Given the description of an element on the screen output the (x, y) to click on. 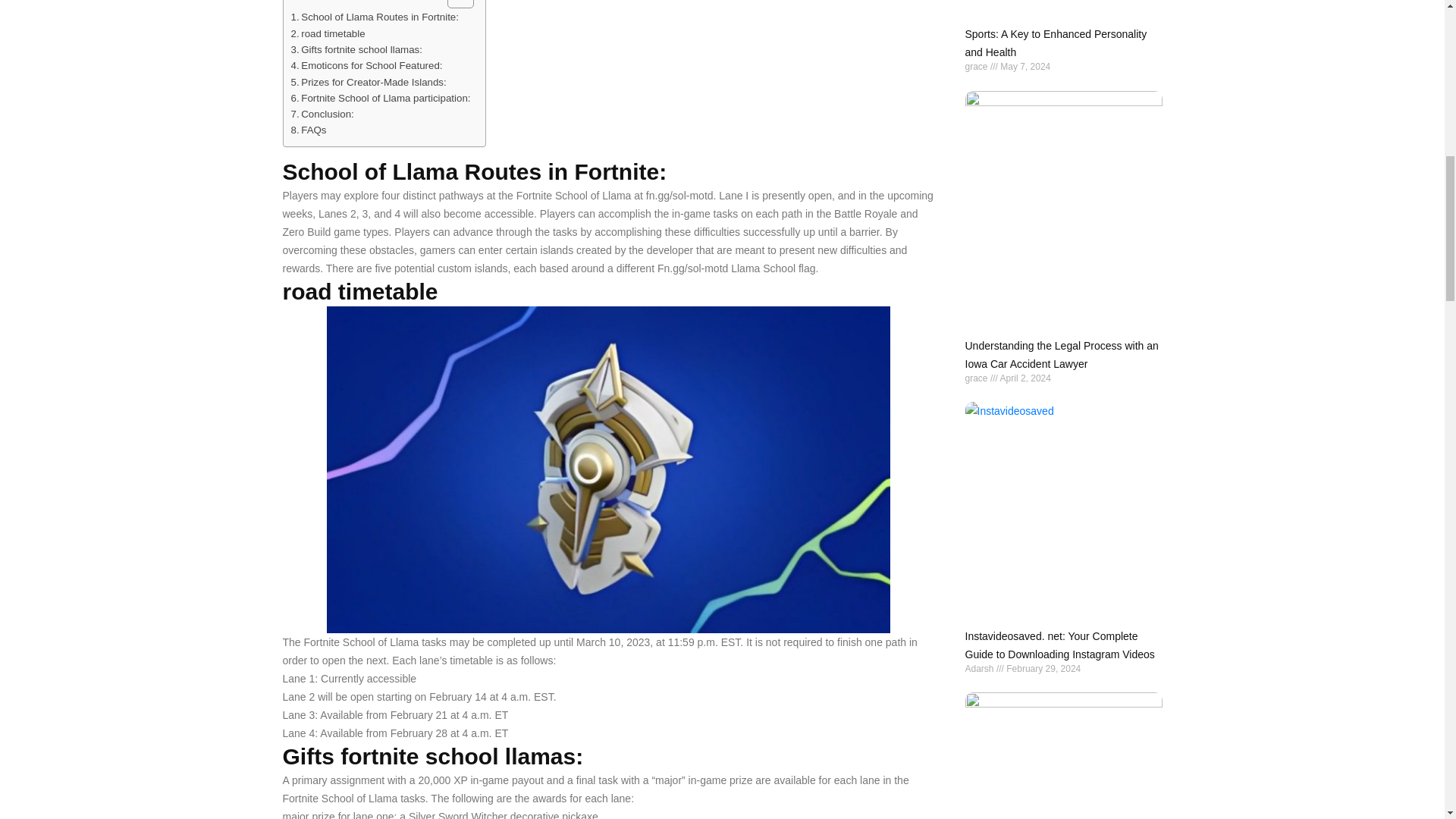
Conclusion: (322, 114)
FAQs (308, 130)
Prizes for Creator-Made Islands: (368, 82)
road timetable (328, 33)
Emoticons for School Featured: (366, 65)
School of Llama Routes in Fortnite: (374, 17)
Fortnite School of Llama participation: (380, 98)
Gifts fortnite school llamas: (356, 49)
